Given the description of an element on the screen output the (x, y) to click on. 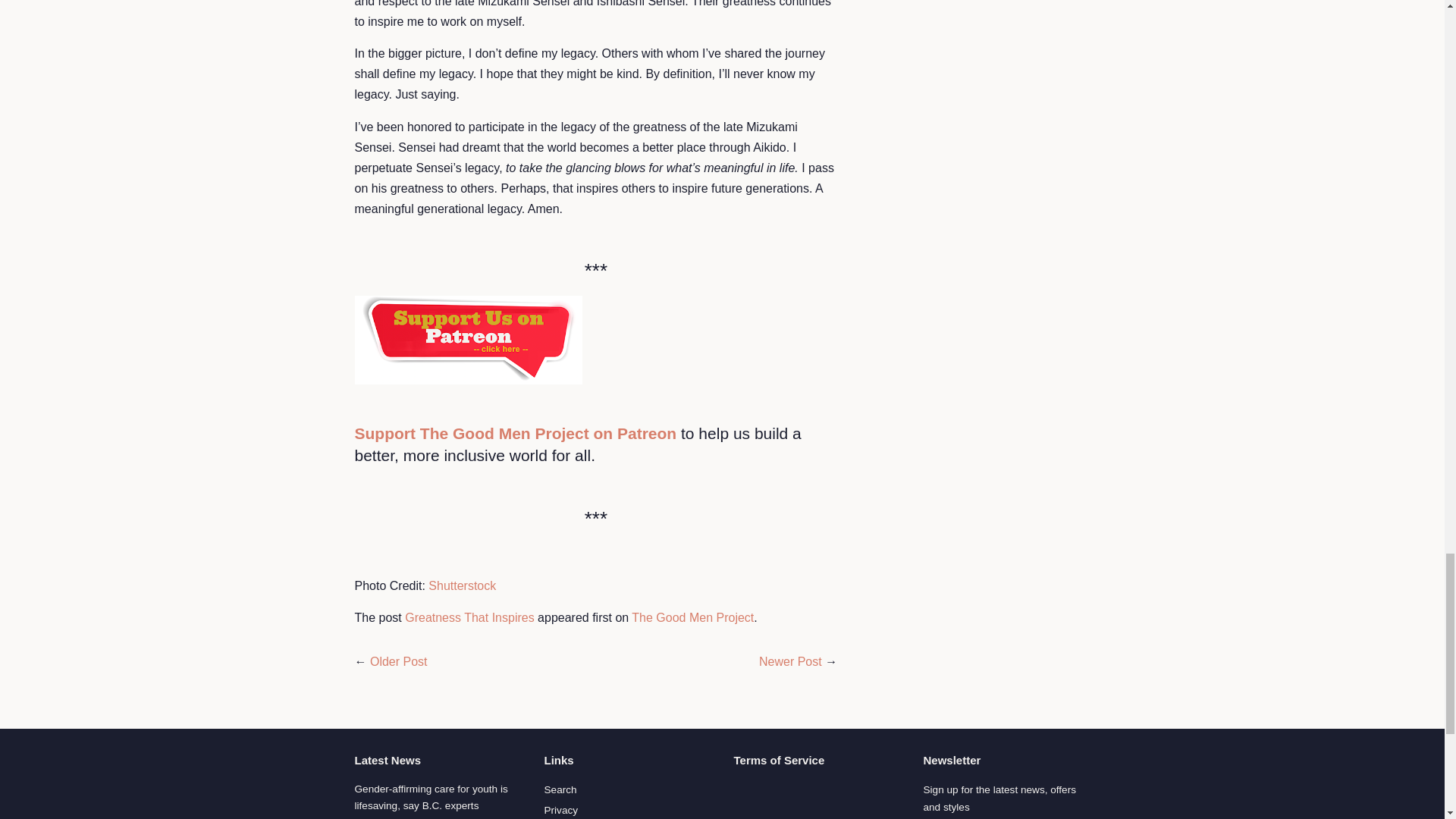
Latest News (388, 759)
Support The Good Men Project on Patreon (516, 433)
Shutterstock (462, 585)
Older Post (398, 661)
Privacy (561, 809)
Greatness That Inspires (469, 617)
The Good Men Project (692, 617)
Newer Post (790, 661)
Search (560, 789)
